Given the description of an element on the screen output the (x, y) to click on. 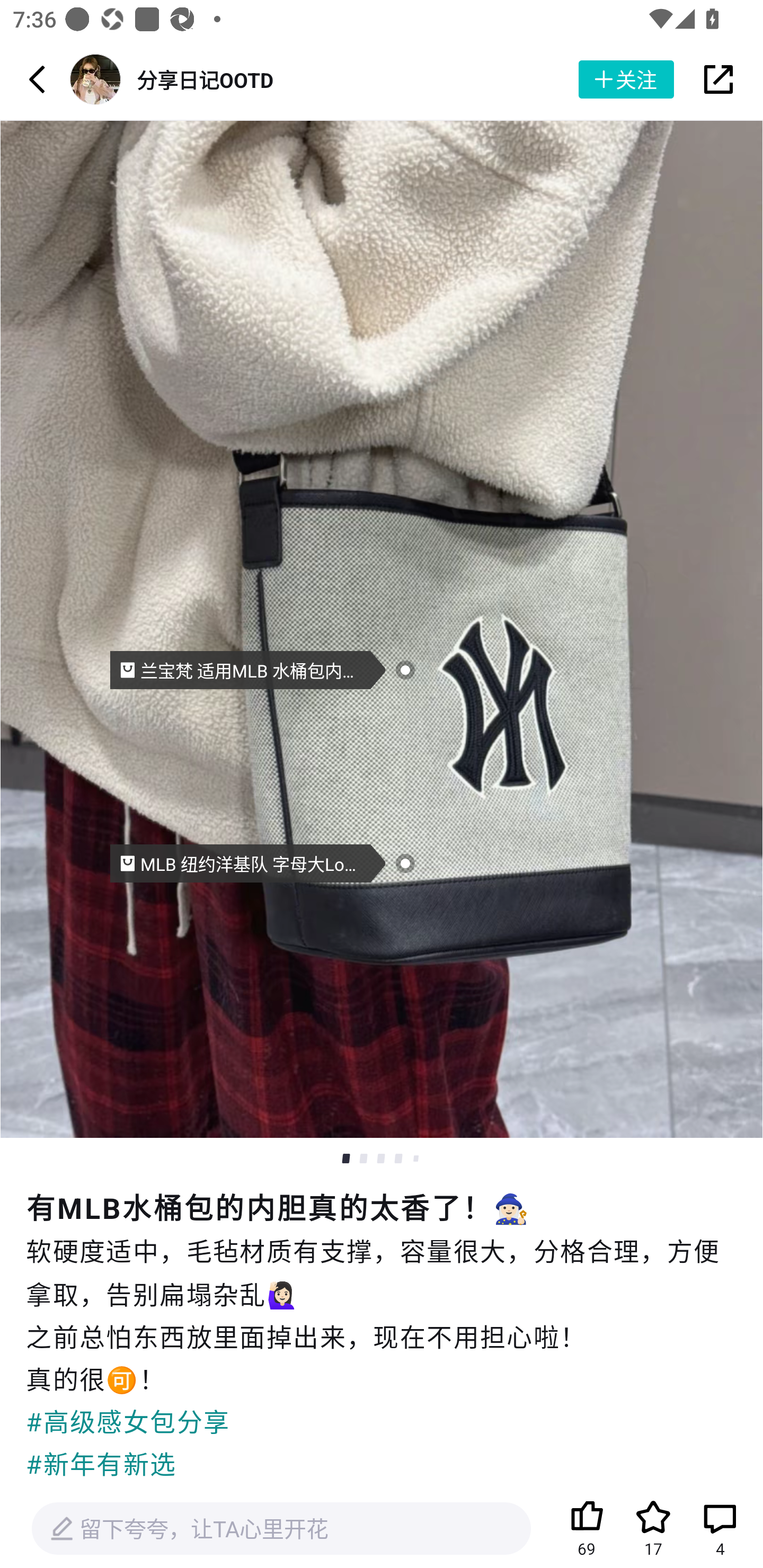
关注 (625, 79)
分享日记OOTD (204, 79)
兰宝梵 适用MLB 水桶包内胆收纳内衬袋包撑单买 毛毡 包周边 男女同款情侣款 黑色  (247, 669)
有MLB水桶包的内胆真的太香了！🧙🏻‍♀️ (381, 1206)
留下夸夸，让TA心里开花 (281, 1528)
